Given the description of an element on the screen output the (x, y) to click on. 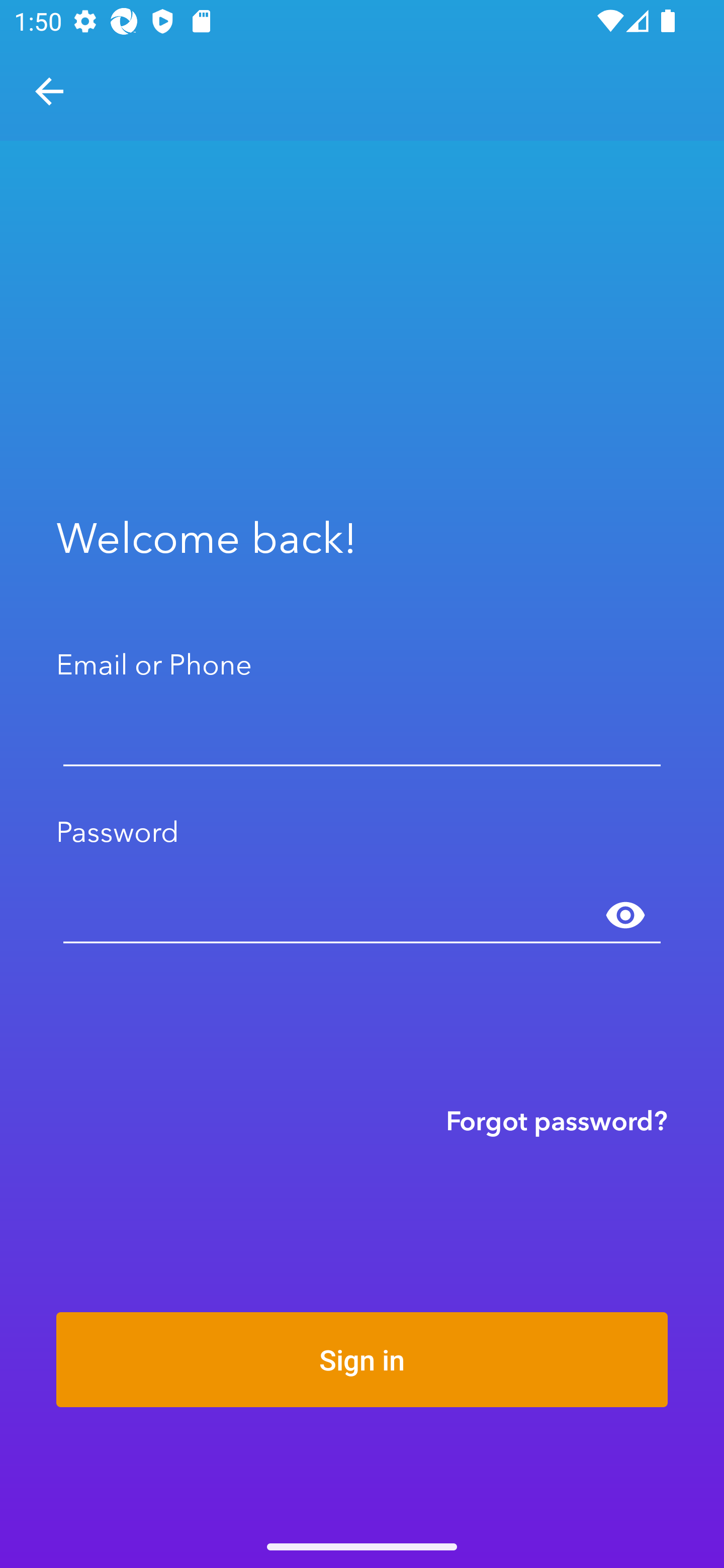
Navigate up (49, 91)
Show password (625, 915)
Forgot password? (556, 1119)
Sign in (361, 1359)
